Given the description of an element on the screen output the (x, y) to click on. 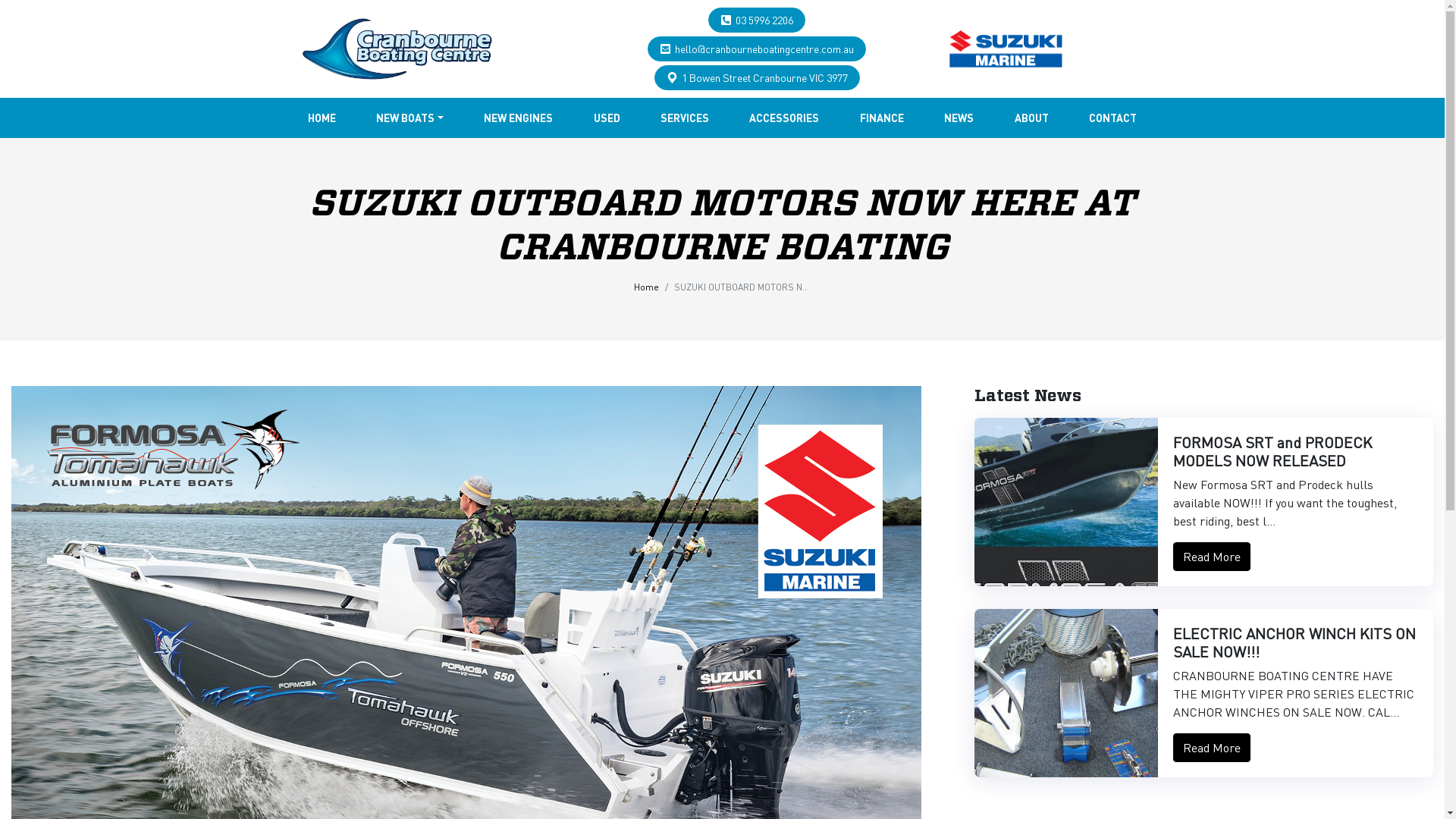
ABOUT Element type: text (1031, 117)
HOME Element type: text (321, 117)
NEW ENGINES Element type: text (517, 117)
FORMOSA SRT and PRODECK MODELS NOW RELEASED Element type: text (1272, 451)
Home Element type: text (645, 286)
... Element type: hover (397, 48)
Read More Element type: text (1211, 556)
ELECTRIC ANCHOR WINCH KITS ON SALE NOW!!! Element type: text (1294, 642)
USED Element type: text (606, 117)
Read More Element type: text (1211, 747)
ACCESSORIES Element type: text (784, 117)
FINANCE Element type: text (881, 117)
NEWS Element type: text (958, 117)
SERVICES Element type: text (684, 117)
hello@cranbourneboatingcentre.com.au Element type: text (763, 48)
03 5996 2206 Element type: text (764, 20)
NEW BOATS Element type: text (409, 117)
CONTACT Element type: text (1112, 117)
